Given the description of an element on the screen output the (x, y) to click on. 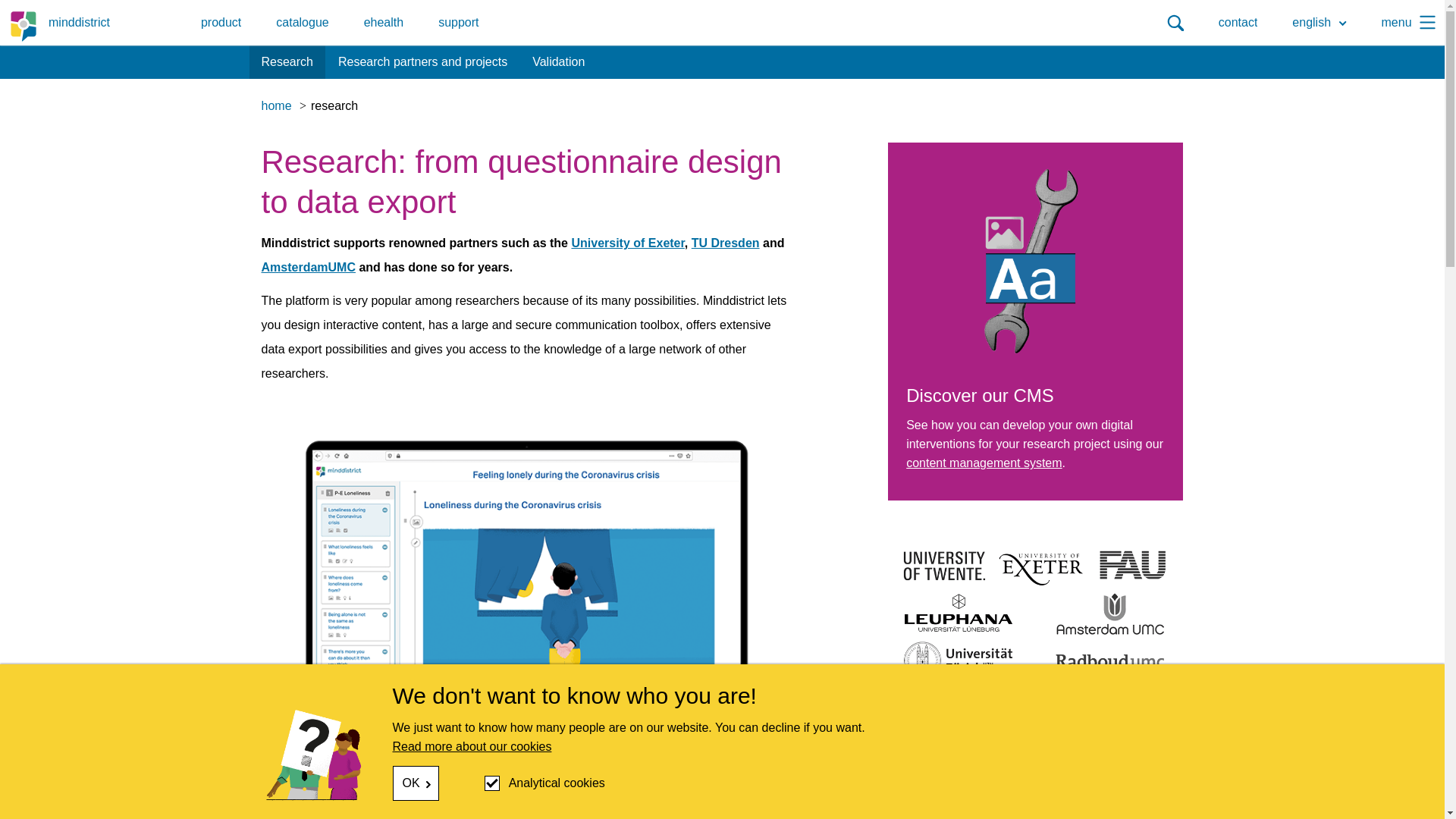
on (491, 783)
Logotypes of renowned universities (1035, 612)
